Given the description of an element on the screen output the (x, y) to click on. 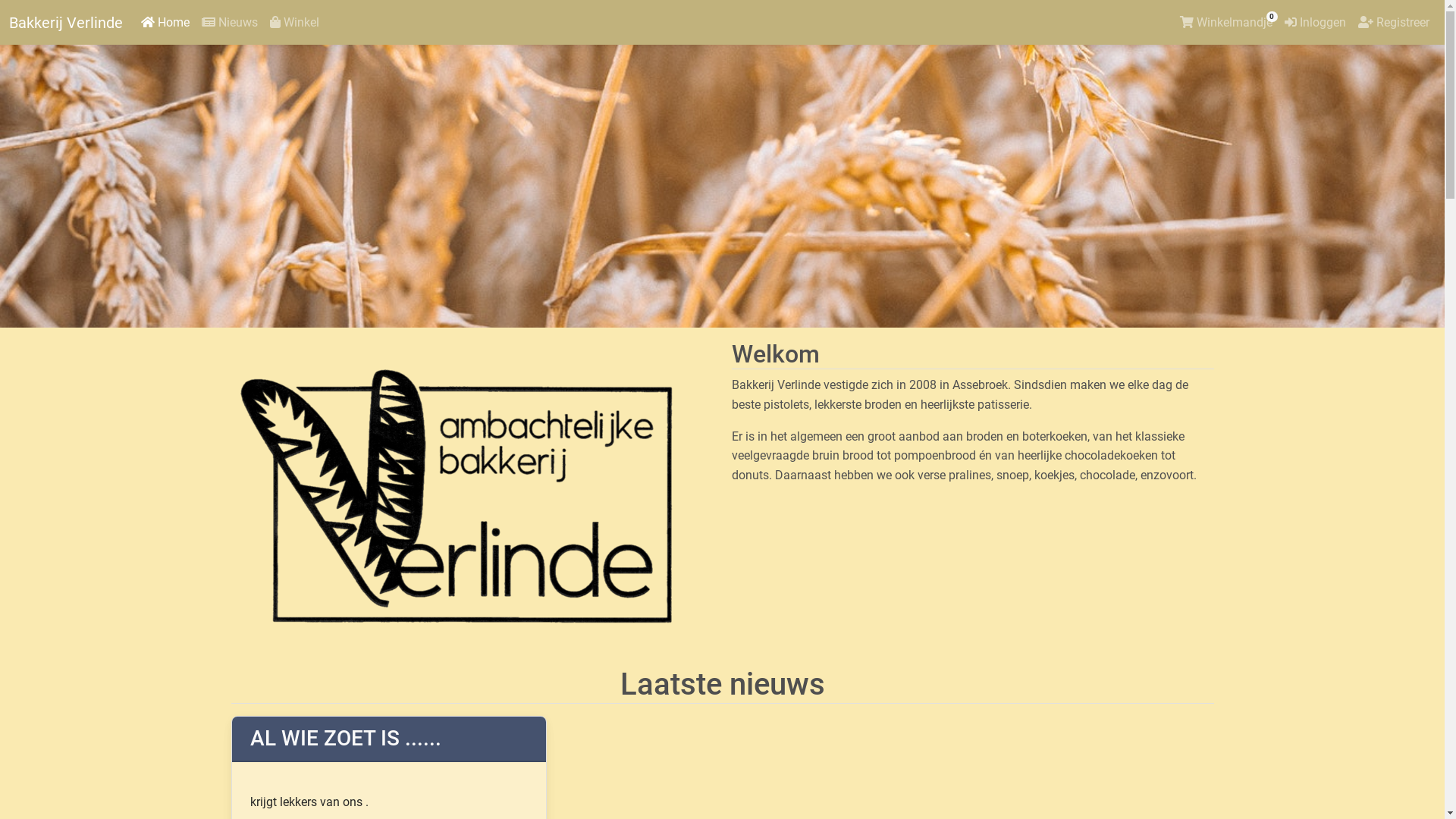
Home Element type: text (164, 22)
Nieuws Element type: text (229, 22)
Inloggen Element type: text (1315, 22)
Bakkerij Verlinde Element type: text (65, 22)
Registreer Element type: text (1393, 22)
Winkel Element type: text (294, 22)
Winkelmandje
0 Element type: text (1225, 22)
